Given the description of an element on the screen output the (x, y) to click on. 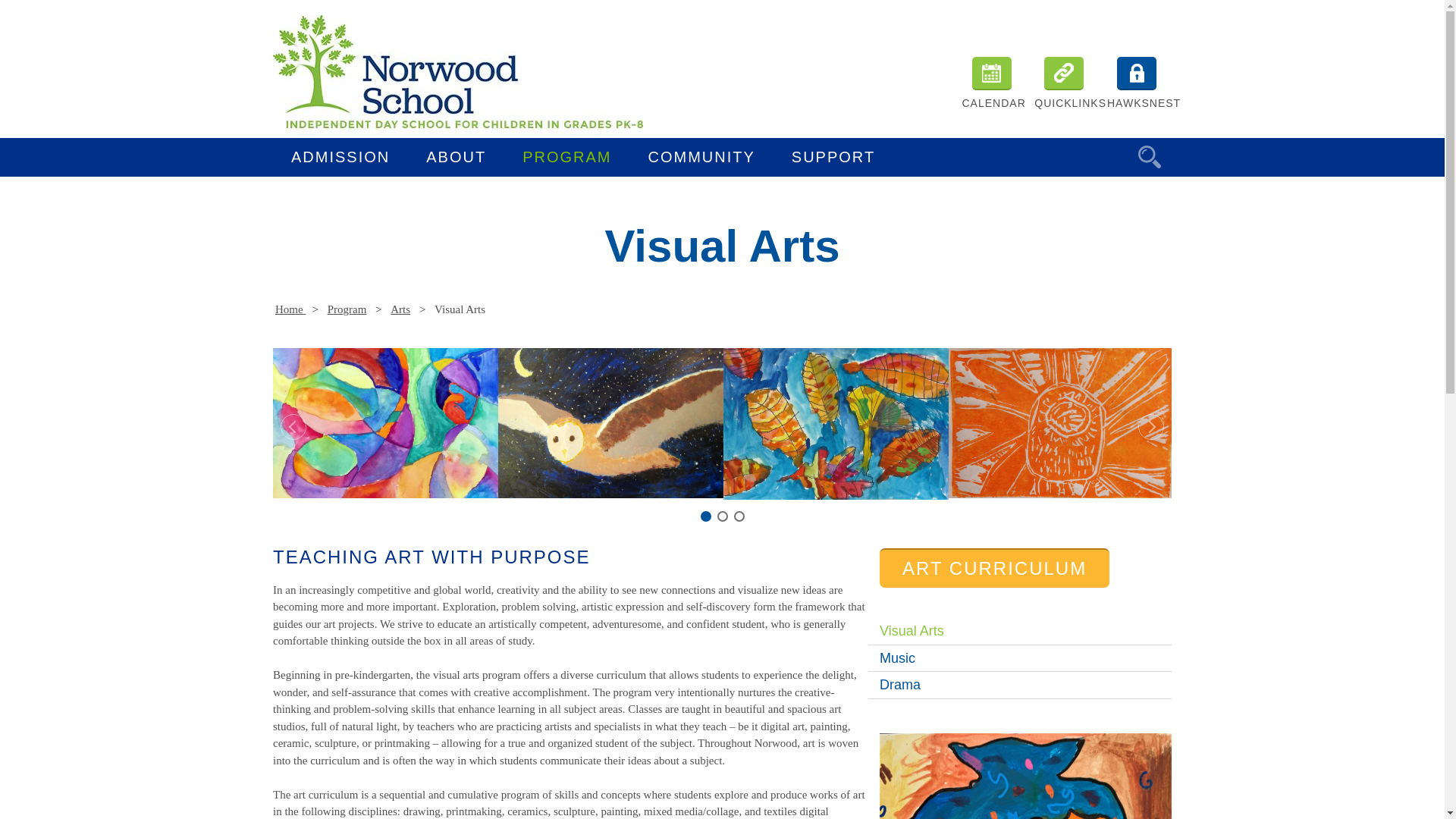
Go (1150, 157)
